Given the description of an element on the screen output the (x, y) to click on. 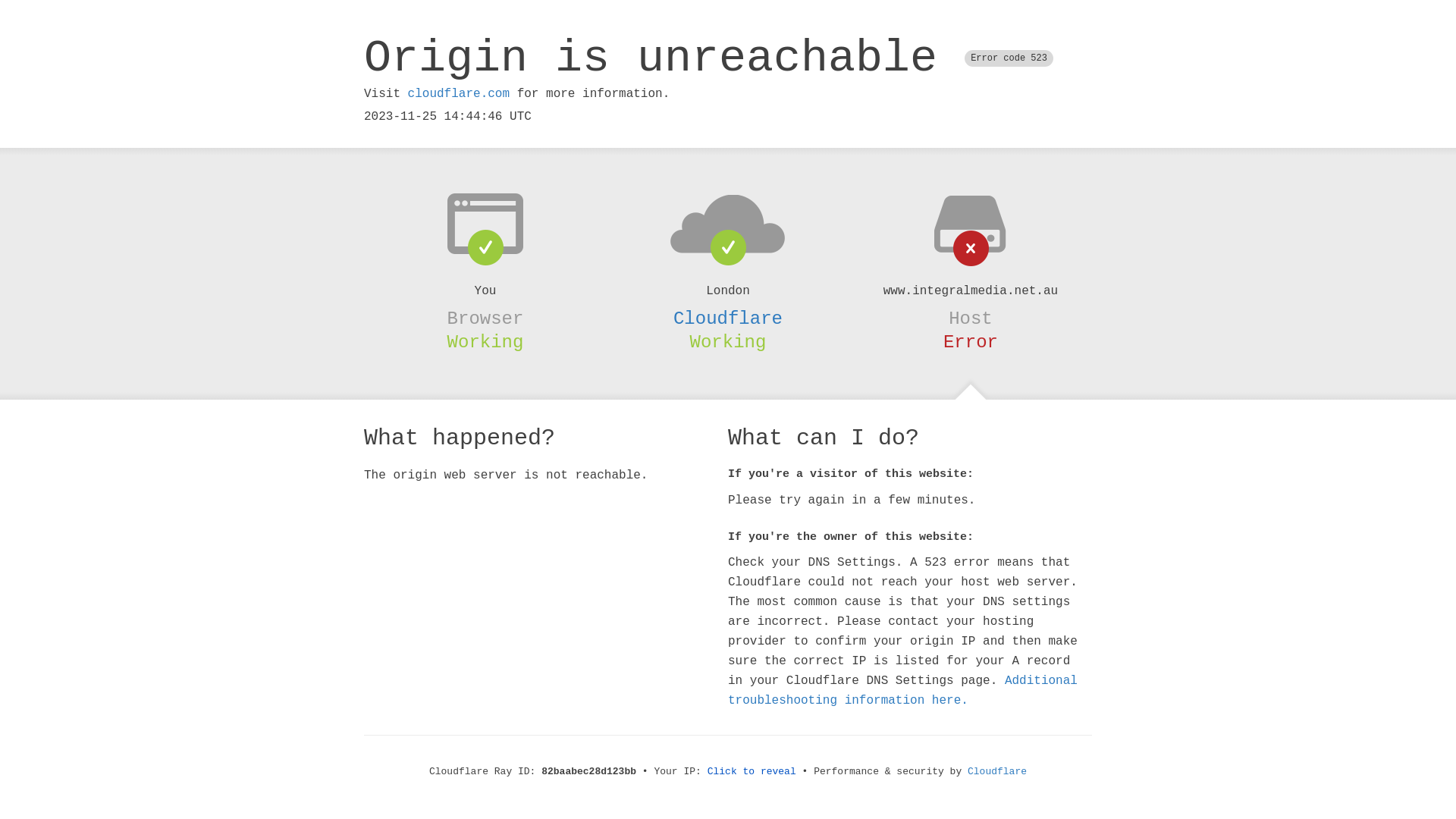
cloudflare.com Element type: text (458, 93)
Additional troubleshooting information here. Element type: text (902, 690)
Cloudflare Element type: text (996, 771)
Click to reveal Element type: text (751, 771)
Cloudflare Element type: text (727, 318)
